Given the description of an element on the screen output the (x, y) to click on. 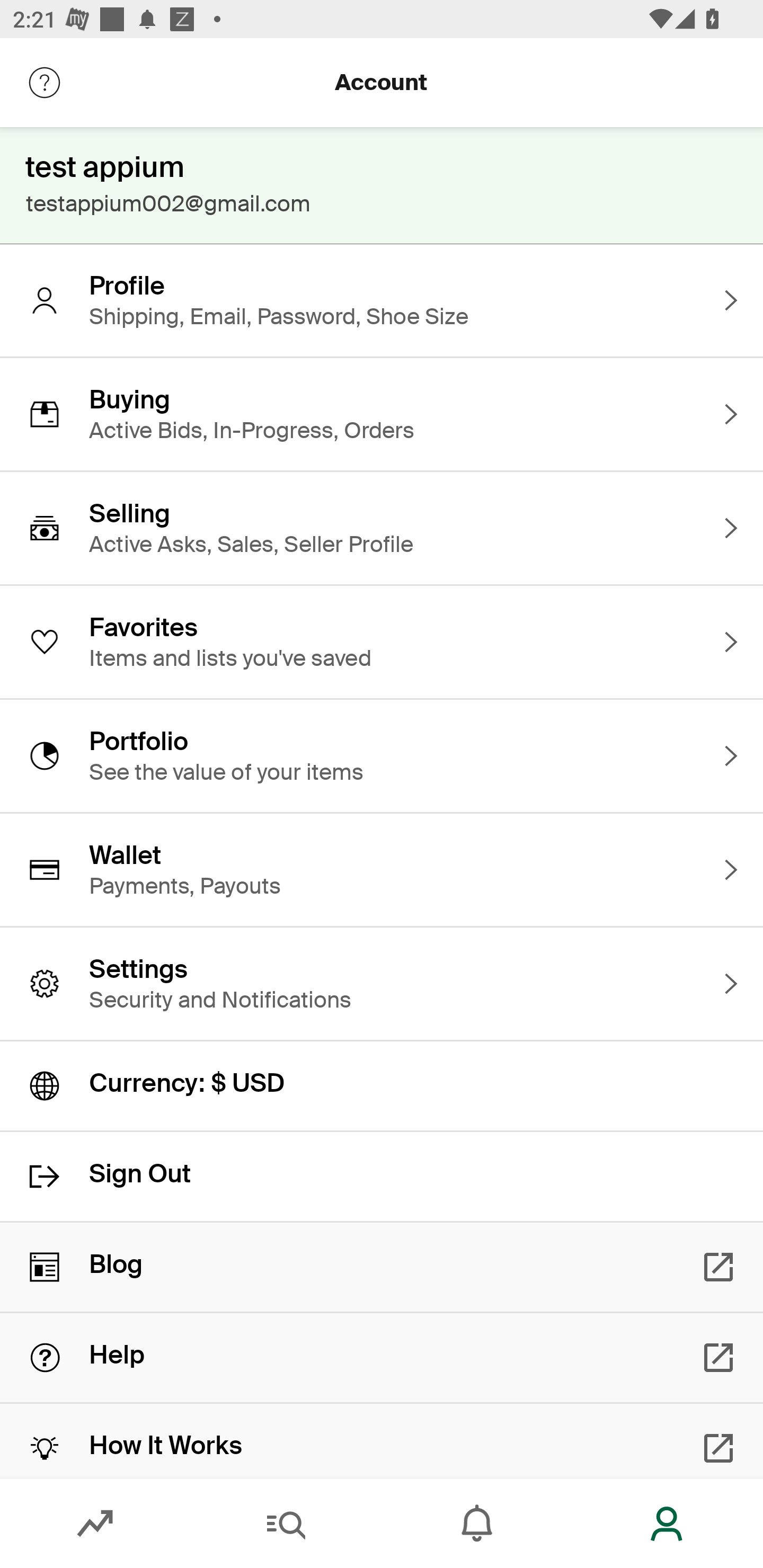
Profile Shipping, Email, Password, Shoe Size (381, 299)
Buying Active Bids, In-Progress, Orders (381, 413)
Selling Active Asks, Sales, Seller Profile (381, 527)
Favorites Items and lists you've saved (381, 641)
Portfolio See the value of your items (381, 755)
Wallet Payments, Payouts (381, 869)
Settings Security and Notifications (381, 983)
Currency: $ USD (381, 1085)
Sign Out (381, 1176)
Blog (381, 1266)
Help (381, 1357)
How It Works (381, 1440)
Market (95, 1523)
Search (285, 1523)
Inbox (476, 1523)
